Given the description of an element on the screen output the (x, y) to click on. 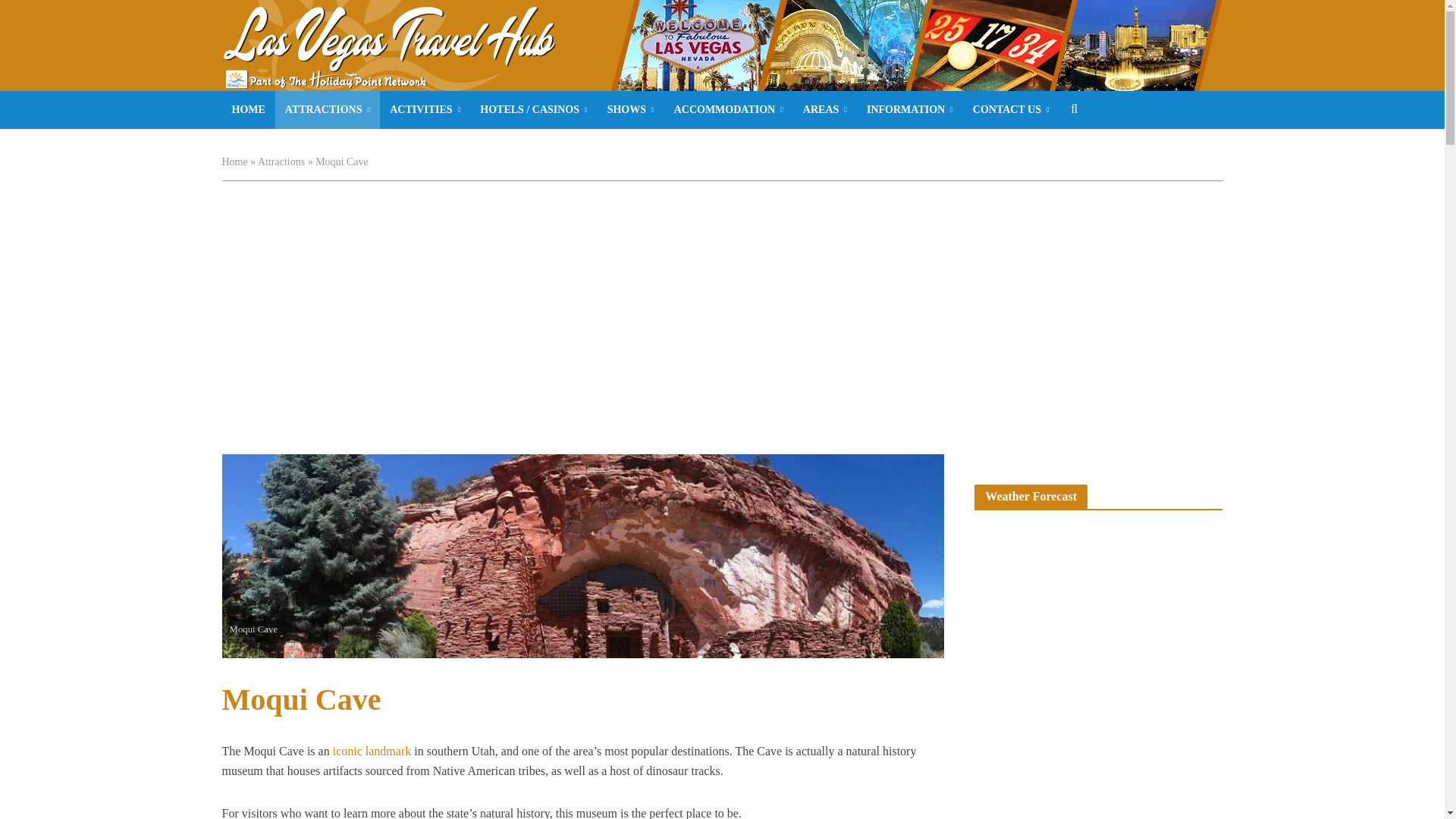
ATTRACTIONS (327, 109)
HOME (248, 109)
